Given the description of an element on the screen output the (x, y) to click on. 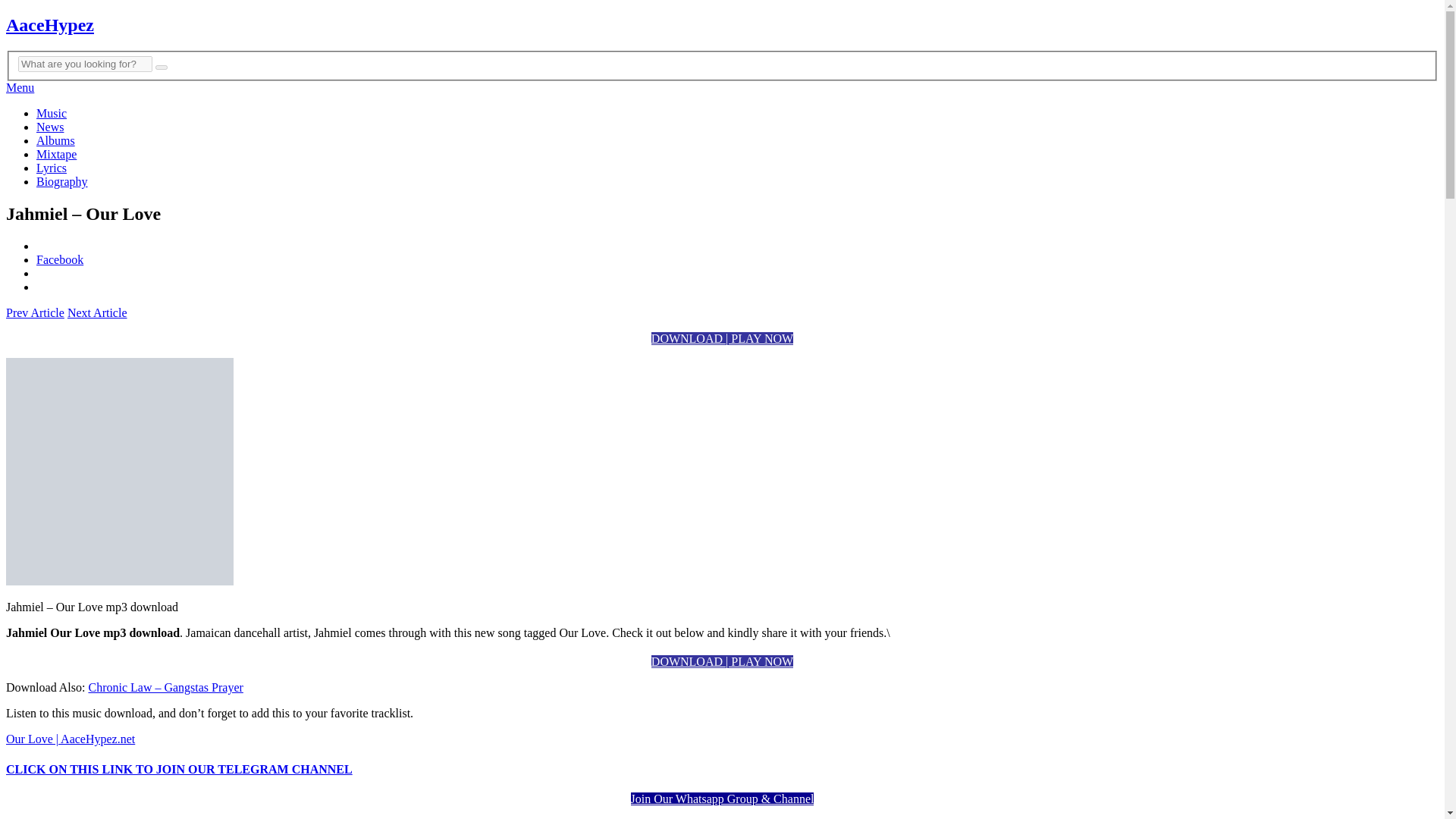
Mixtape (56, 154)
Albums (55, 140)
Music (51, 113)
Next Article (97, 312)
News (50, 126)
Facebook (59, 259)
AaceHypez (49, 25)
Biography (61, 181)
CLICK ON THIS LINK TO JOIN OUR TELEGRAM CHANNEL (178, 768)
Lyrics (51, 167)
